Given the description of an element on the screen output the (x, y) to click on. 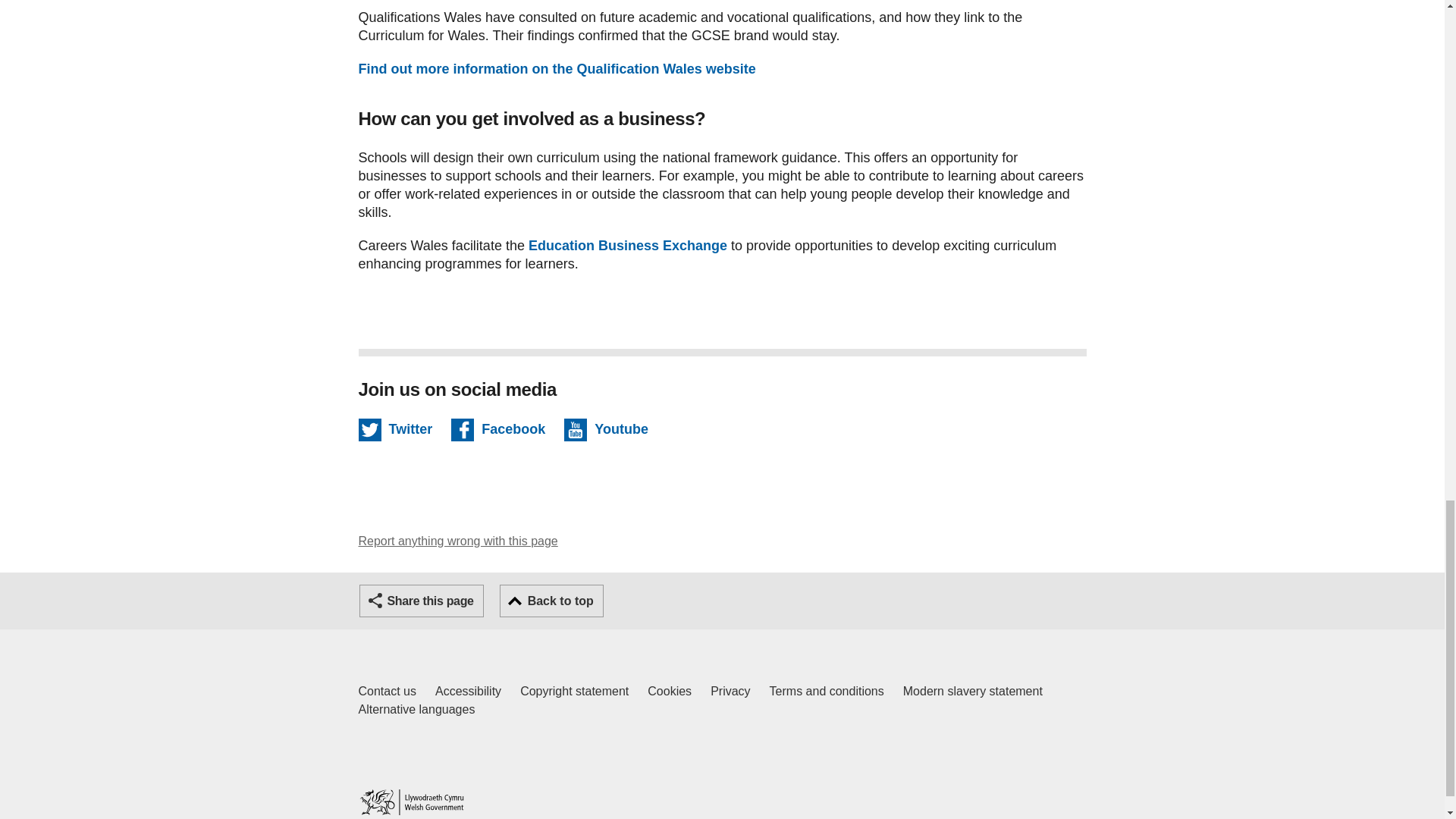
Report anything wrong with this page (457, 540)
Back to top (551, 600)
Home (411, 801)
Alternative languages (386, 691)
Accessibility (416, 710)
Find out more information on the Qualification Wales website (467, 691)
Education Business Exchange (556, 68)
Share this page (627, 245)
Modern slavery statement (421, 600)
Terms and conditions (972, 691)
Copyright statement (826, 691)
